Given the description of an element on the screen output the (x, y) to click on. 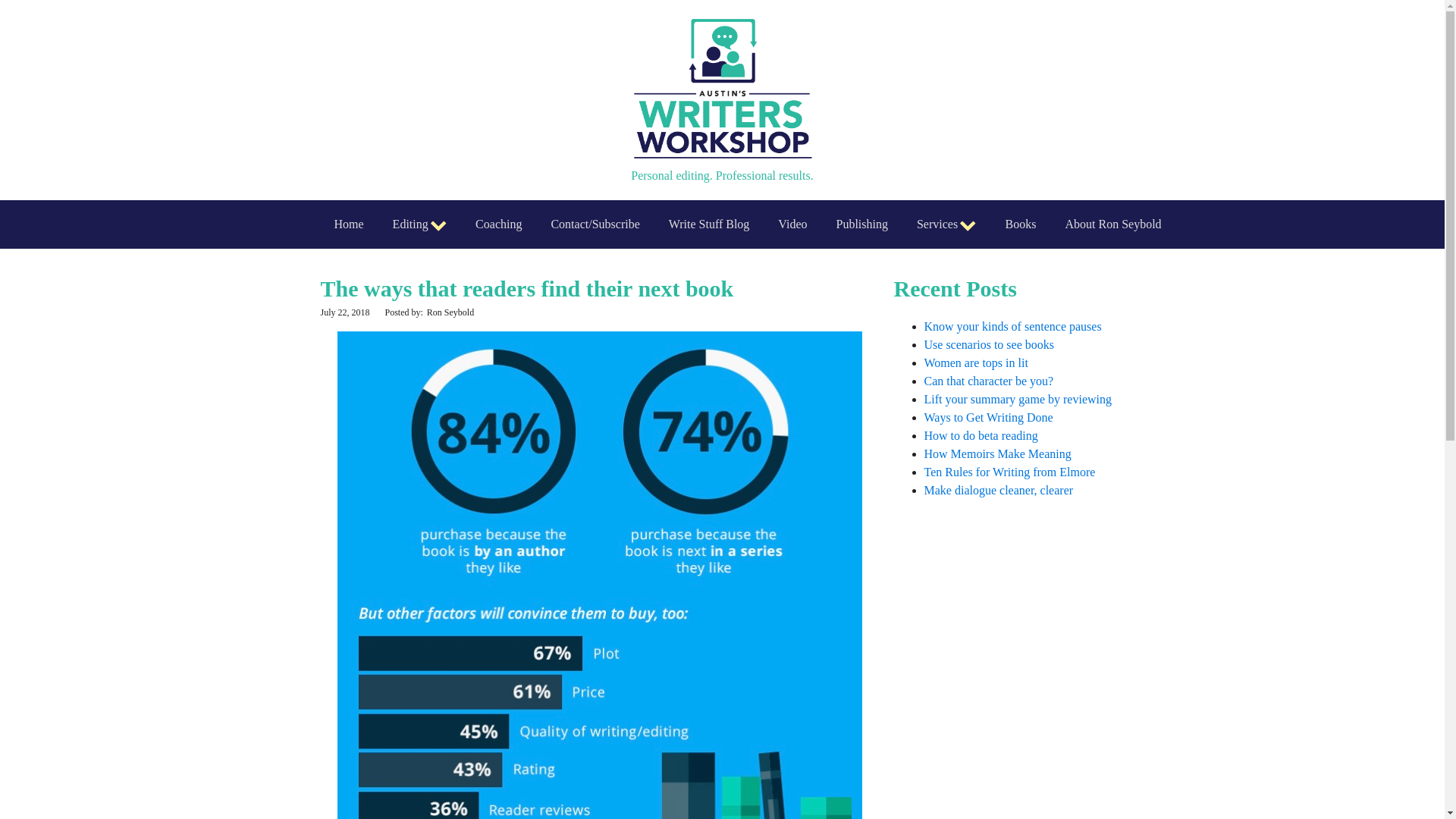
Video (791, 224)
How to do beta reading (979, 435)
Make dialogue cleaner, clearer (998, 490)
Can that character be you? (987, 380)
Books (1021, 224)
Lift your summary game by reviewing (1017, 399)
Ten Rules for Writing from Elmore (1008, 472)
Coaching (498, 224)
Know your kinds of sentence pauses (1011, 326)
Personal editing. Professional results. (721, 100)
Publishing (860, 224)
How Memoirs Make Meaning (996, 453)
Write Stuff Blog (708, 224)
Women are tops in lit (975, 362)
Services (946, 224)
